Given the description of an element on the screen output the (x, y) to click on. 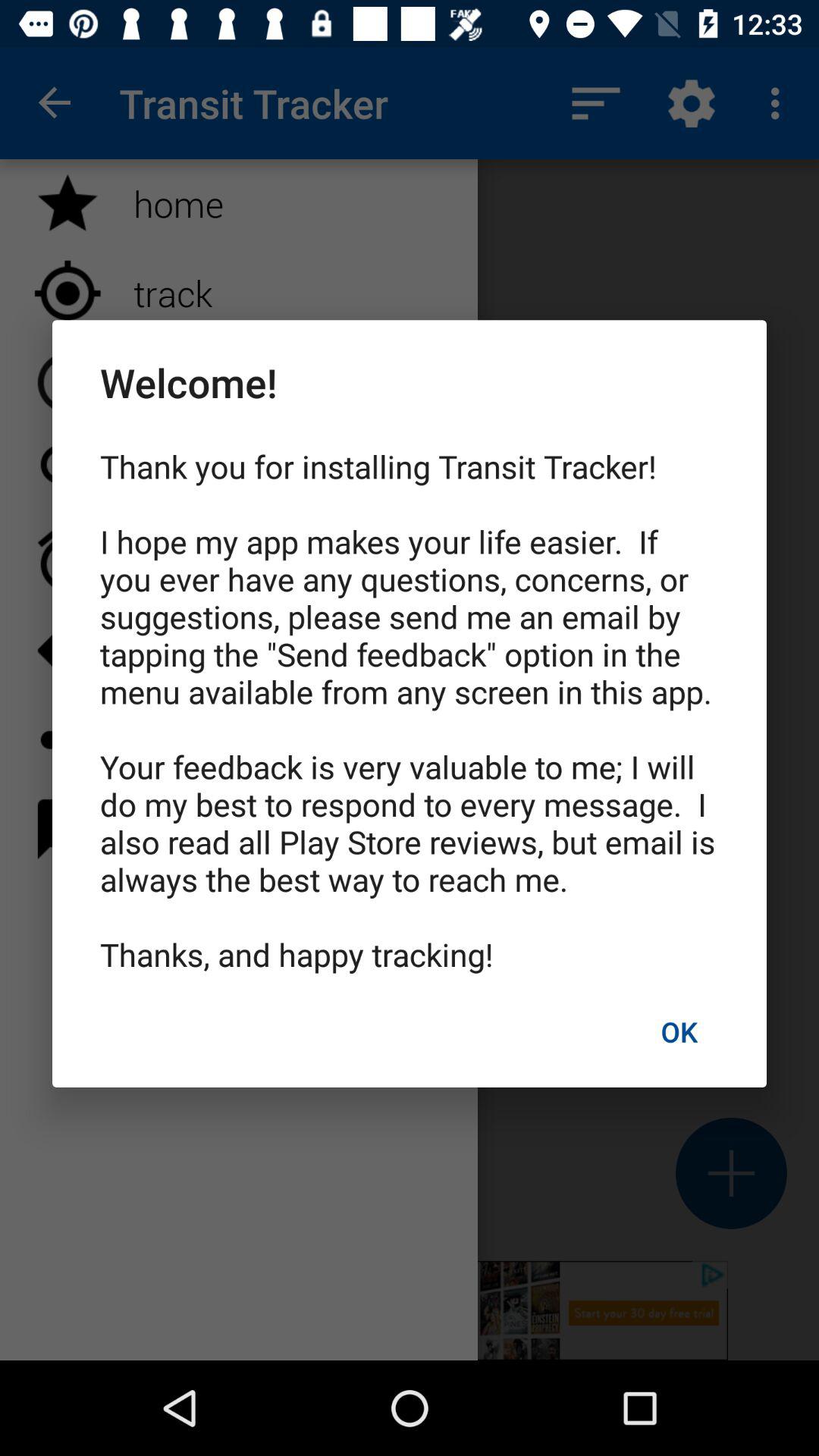
jump to the ok (678, 1031)
